Given the description of an element on the screen output the (x, y) to click on. 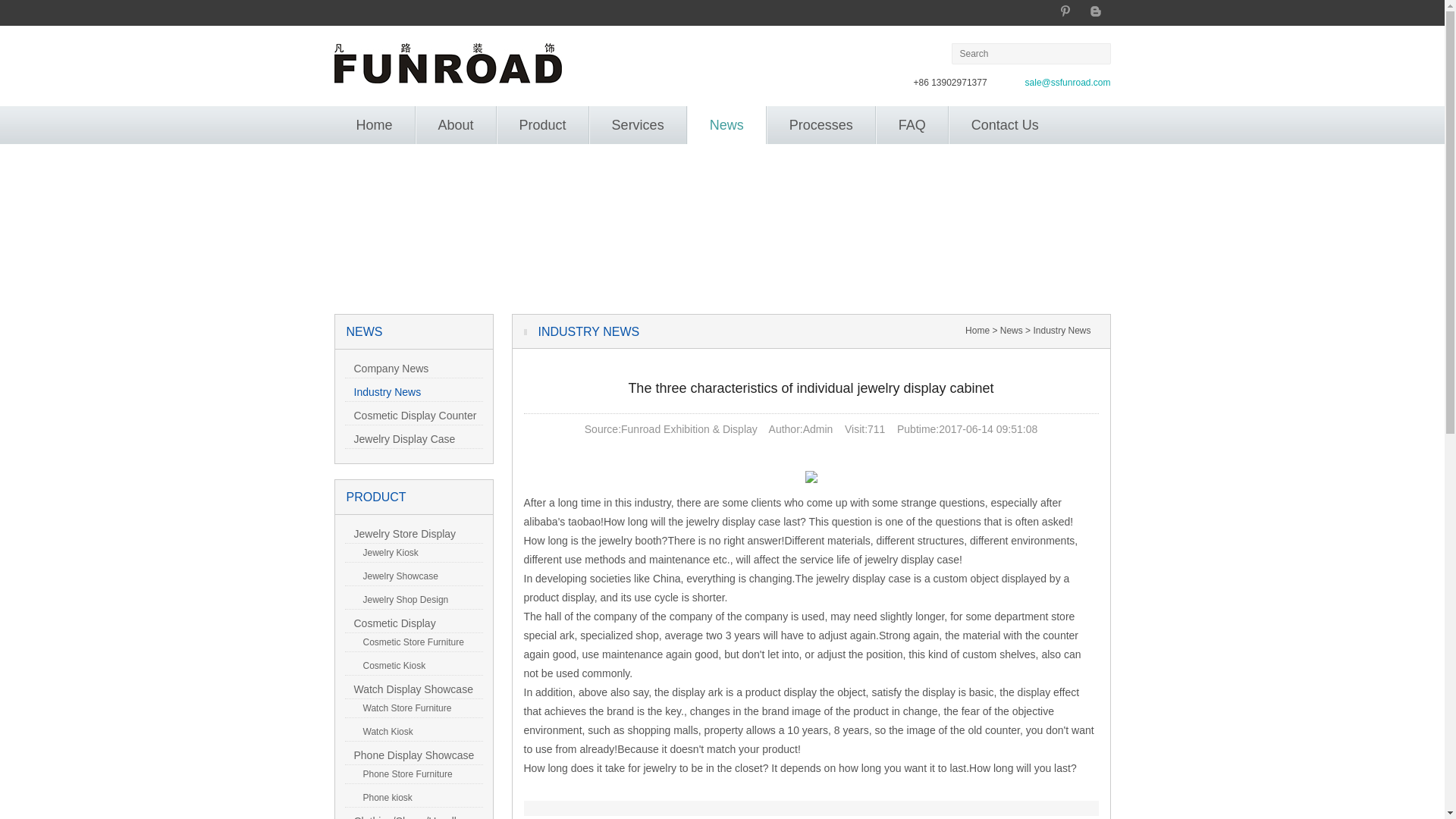
About (456, 125)
Product (542, 125)
Home (373, 125)
Services (637, 125)
News (726, 125)
About (456, 125)
Product (542, 125)
